Given the description of an element on the screen output the (x, y) to click on. 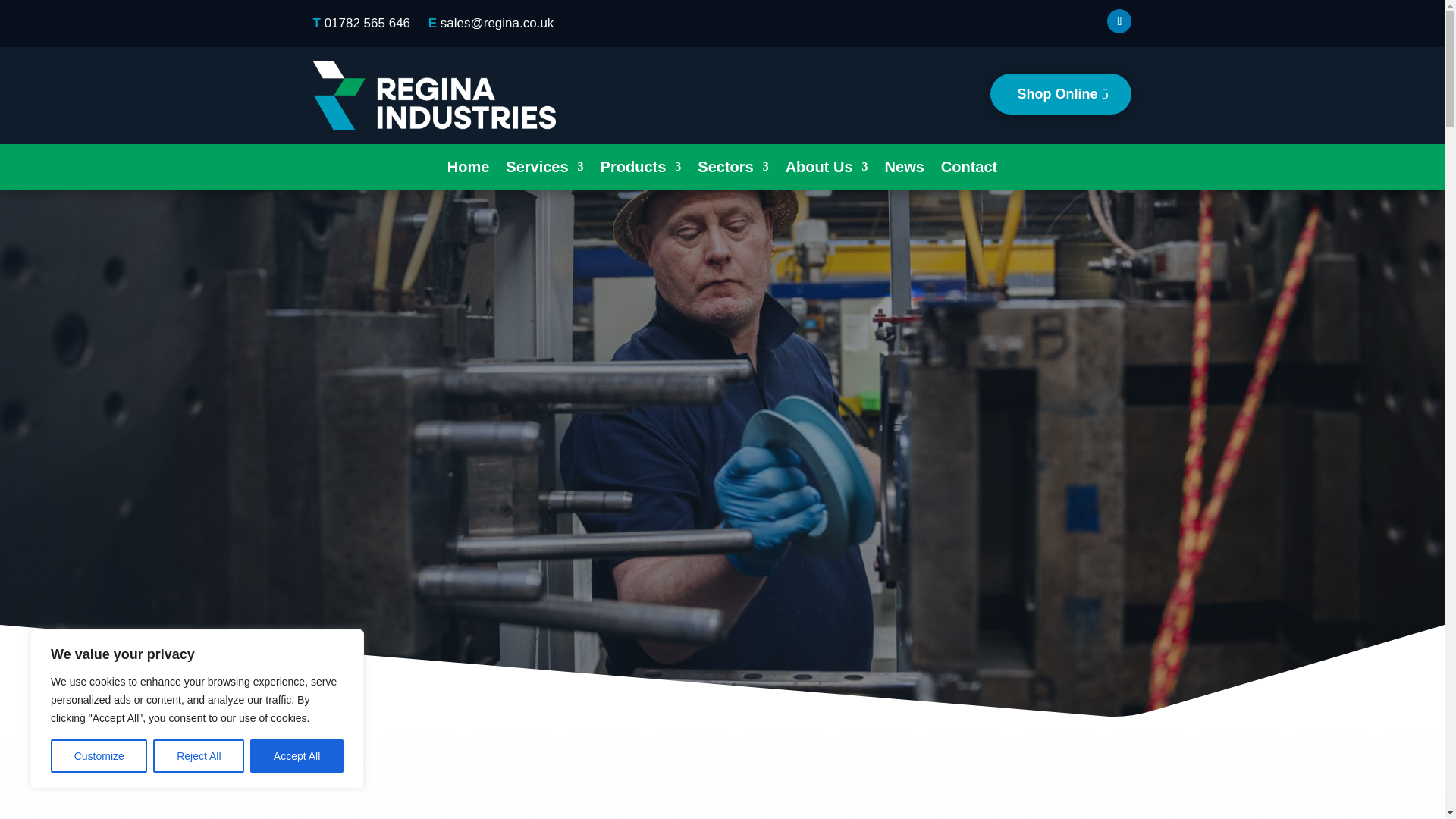
Sectors (732, 169)
01782 565 646 (367, 22)
Home (467, 169)
Customize (98, 756)
Shop Online (1060, 94)
Services (544, 169)
Reject All (198, 756)
Accept All (296, 756)
Follow on LinkedIn (1118, 21)
Products (640, 169)
